Given the description of an element on the screen output the (x, y) to click on. 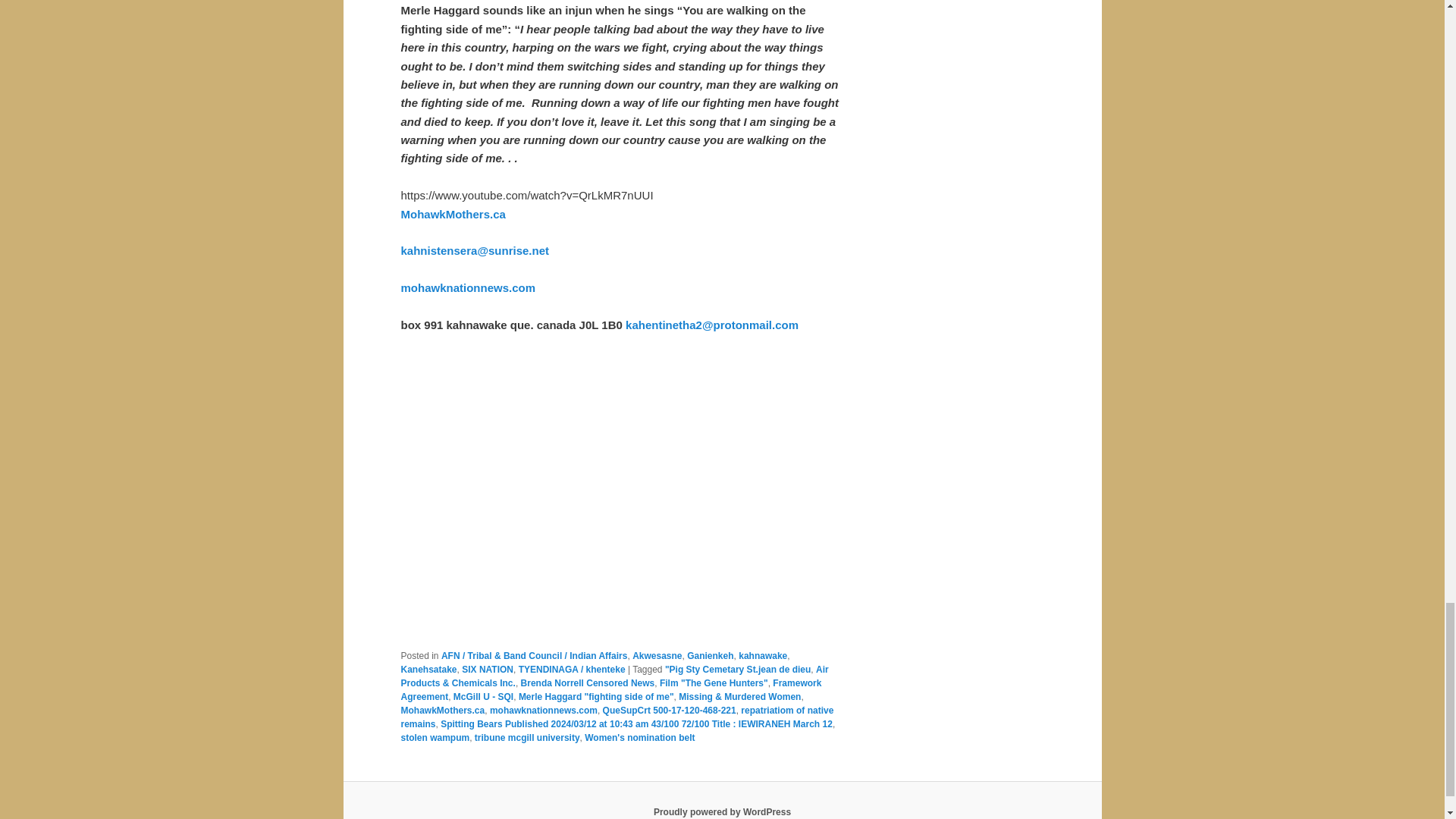
Ganienkeh (710, 655)
kahnawake (762, 655)
Framework Agreement (610, 689)
MohawkMothers.ca (452, 214)
Kanehsatake (428, 669)
Akwesasne (656, 655)
Brenda Norrell Censored News (588, 683)
Film "The Gene Hunters" (713, 683)
SIX NATION (487, 669)
Semantic Personal Publishing Platform (721, 811)
"Pig Sty Cemetary St.jean de dieu (737, 669)
mohawknationnews.com (467, 287)
